Given the description of an element on the screen output the (x, y) to click on. 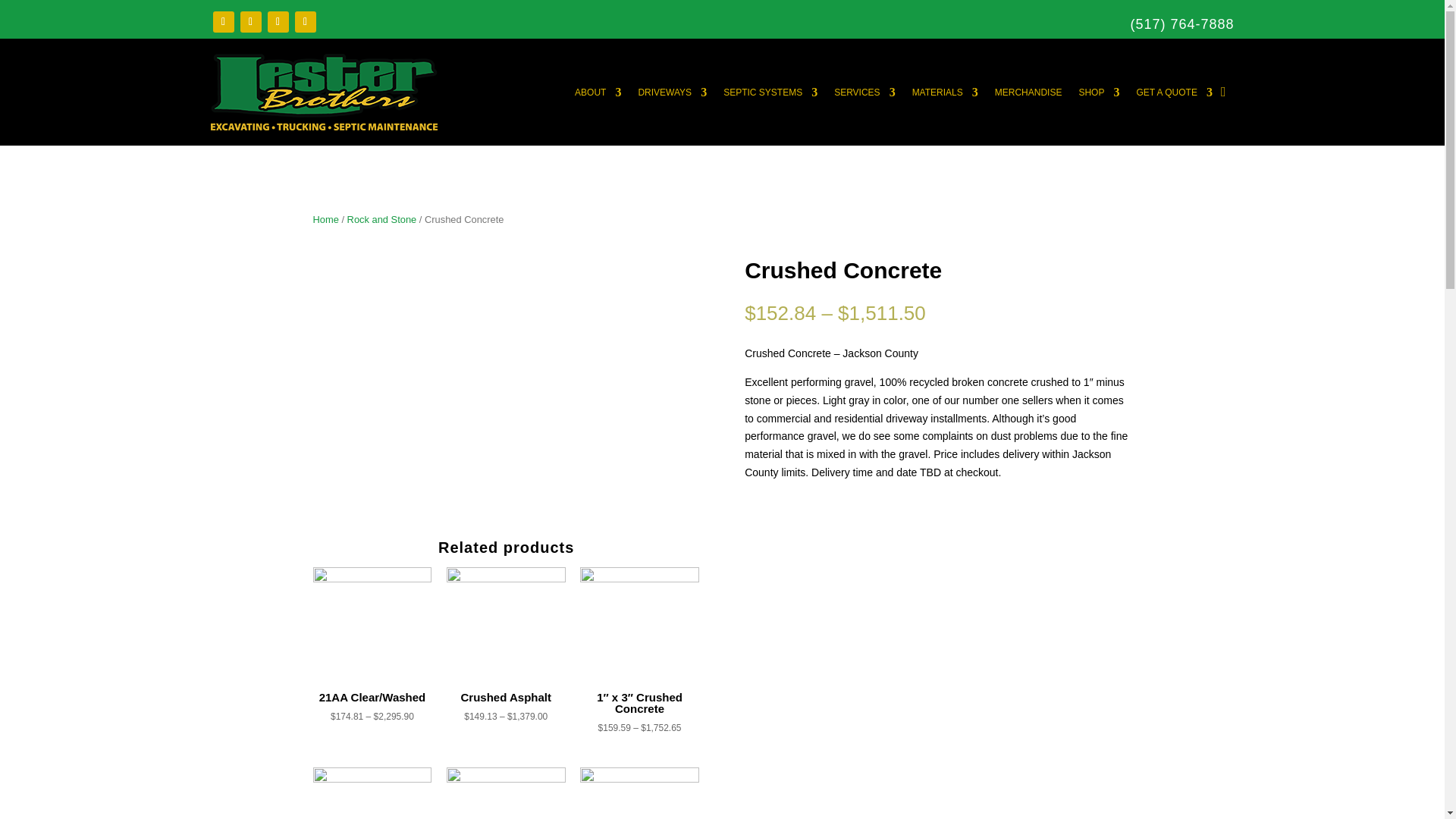
Follow on Instagram (277, 21)
DRIVEWAYS (671, 92)
SEPTIC SYSTEMS (769, 92)
Follow on LinkedIn (304, 21)
ABOUT (598, 92)
Follow on Facebook (222, 21)
Follow on X (250, 21)
SERVICES (864, 92)
MATERIALS (945, 92)
